Given the description of an element on the screen output the (x, y) to click on. 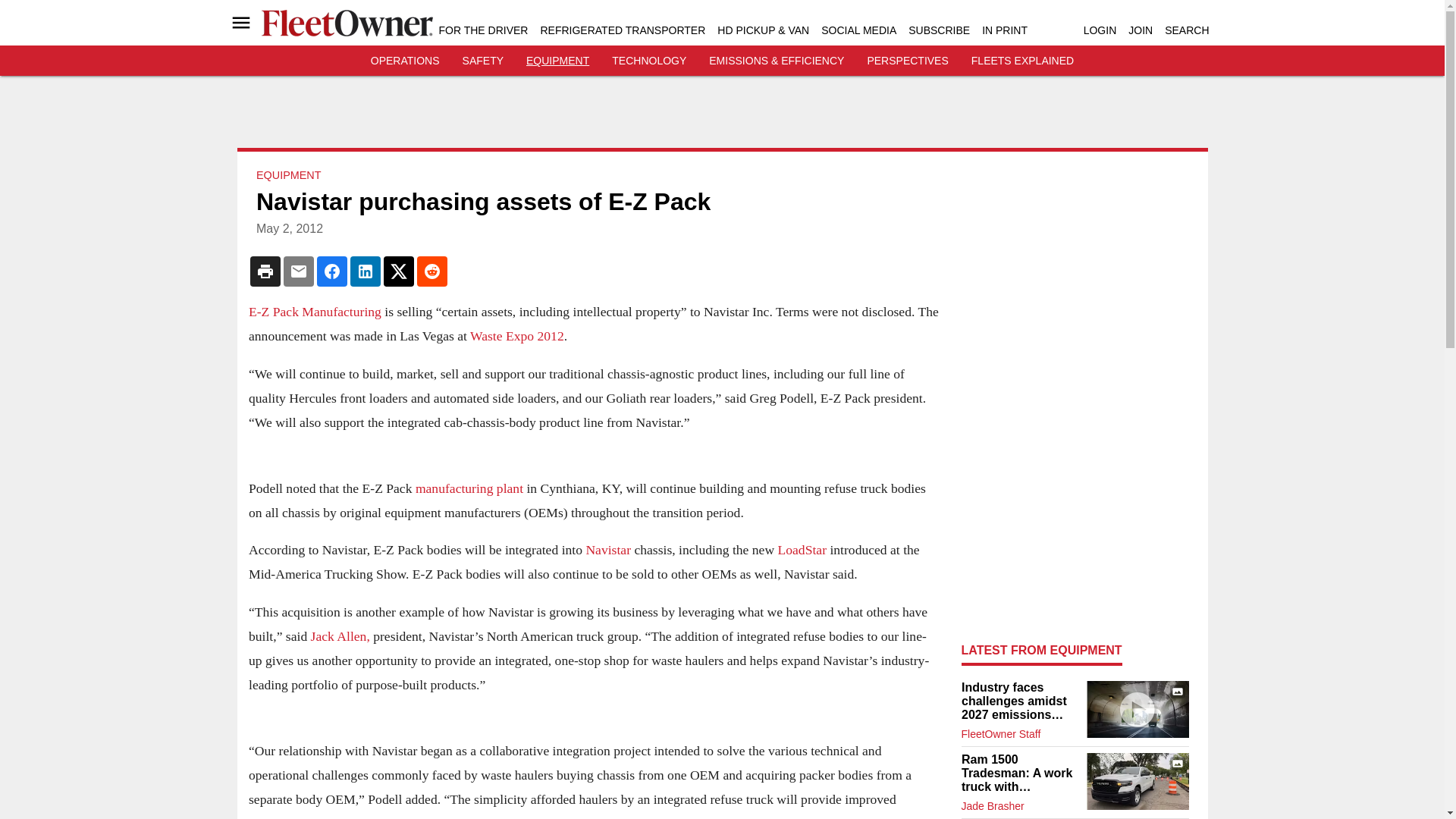
Freight recession light at end of the tunnel (1137, 708)
SOCIAL MEDIA (858, 30)
FLEETS EXPLAINED (1022, 60)
JOIN (1140, 30)
IN PRINT (1004, 30)
OPERATIONS (405, 60)
EQUIPMENT (557, 60)
PERSPECTIVES (906, 60)
SAFETY (483, 60)
REFRIGERATED TRANSPORTER (622, 30)
